Given the description of an element on the screen output the (x, y) to click on. 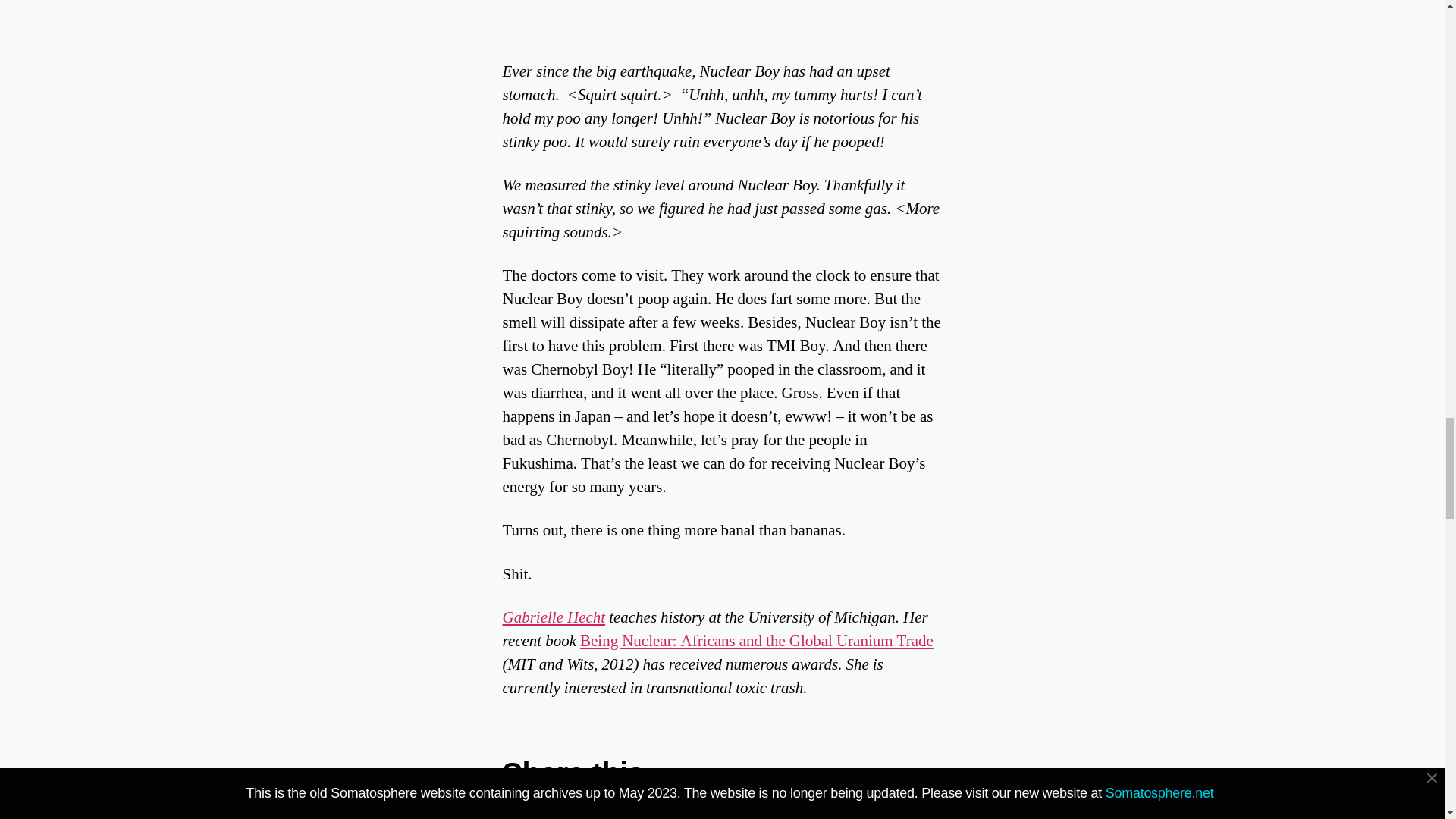
Gabrielle Hecht (553, 617)
Being Nuclear: Africans and the Global Uranium Trade (756, 640)
